Given the description of an element on the screen output the (x, y) to click on. 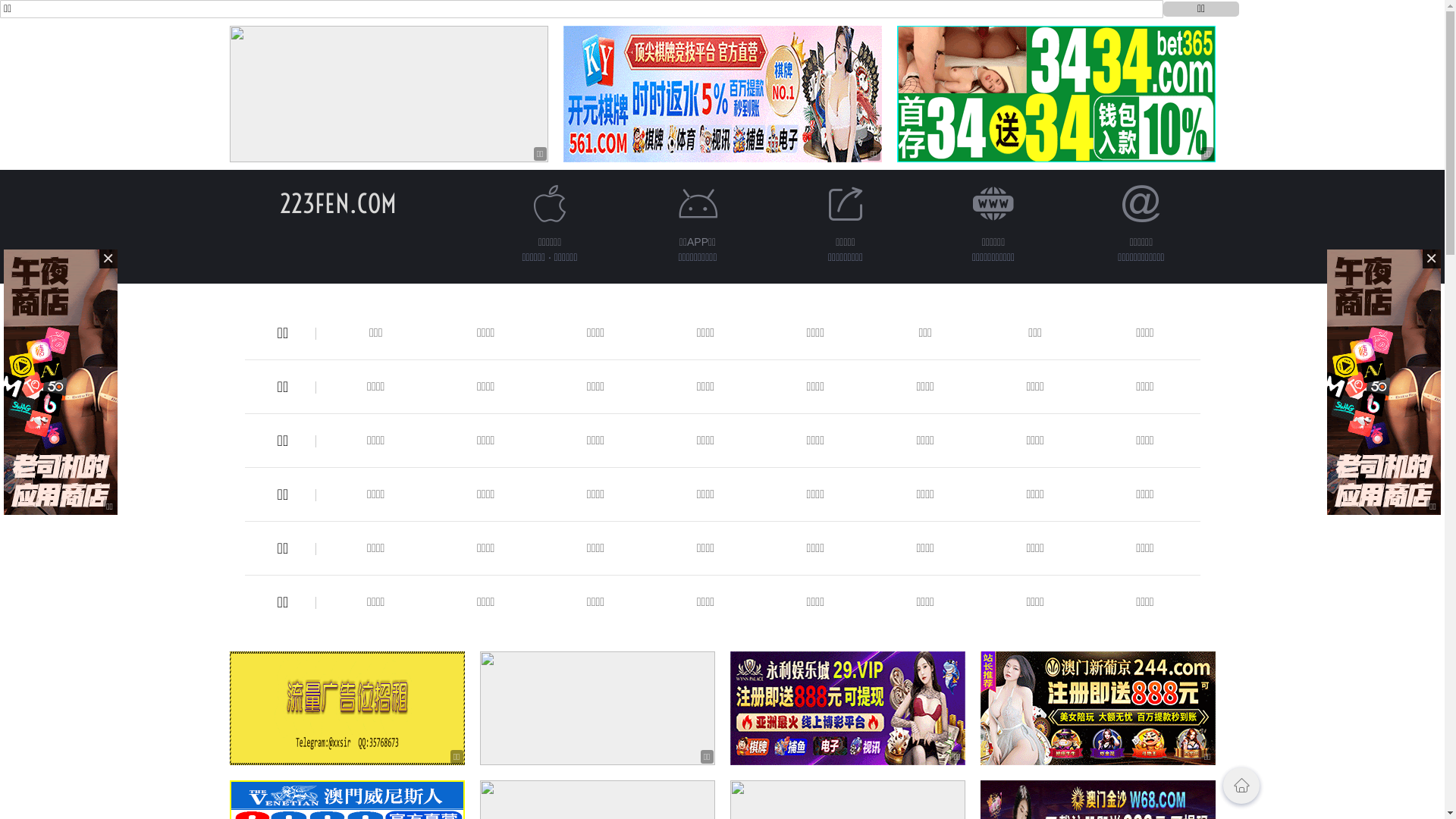
223FEN.COM Element type: text (337, 203)
